Given the description of an element on the screen output the (x, y) to click on. 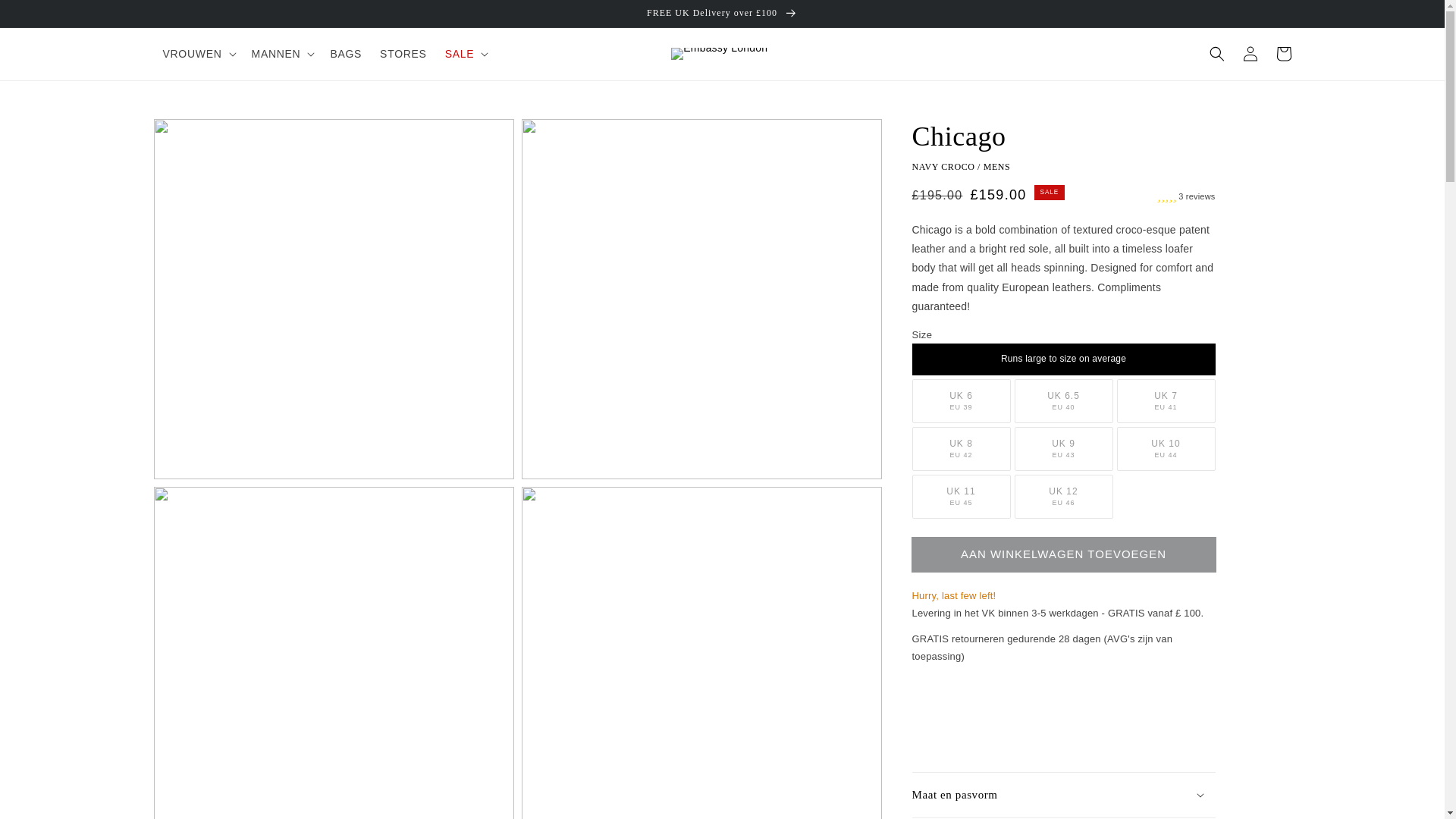
METEEN NAAR DE CONTENT (45, 16)
